Given the description of an element on the screen output the (x, y) to click on. 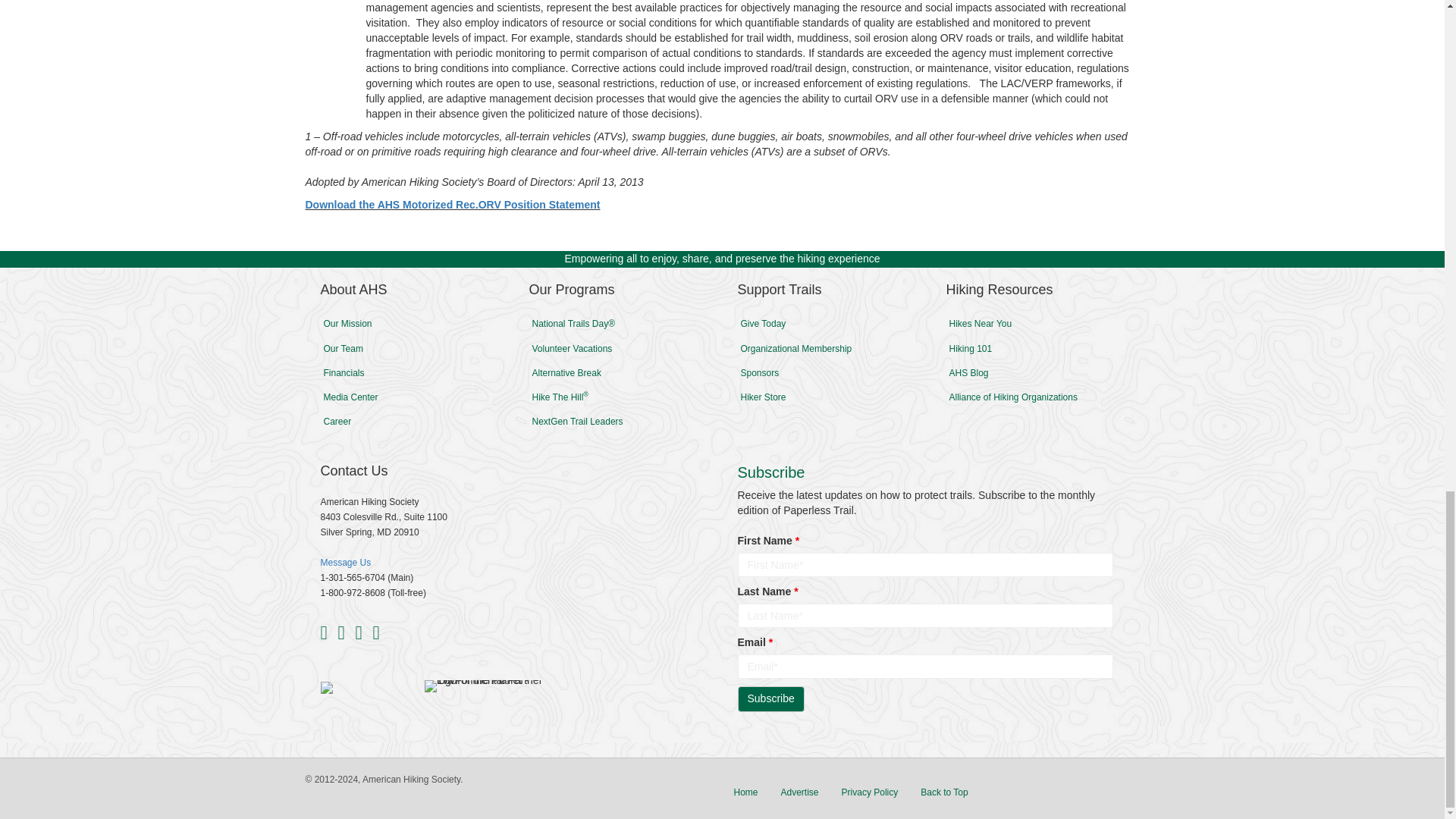
Subscribe (769, 698)
